Given the description of an element on the screen output the (x, y) to click on. 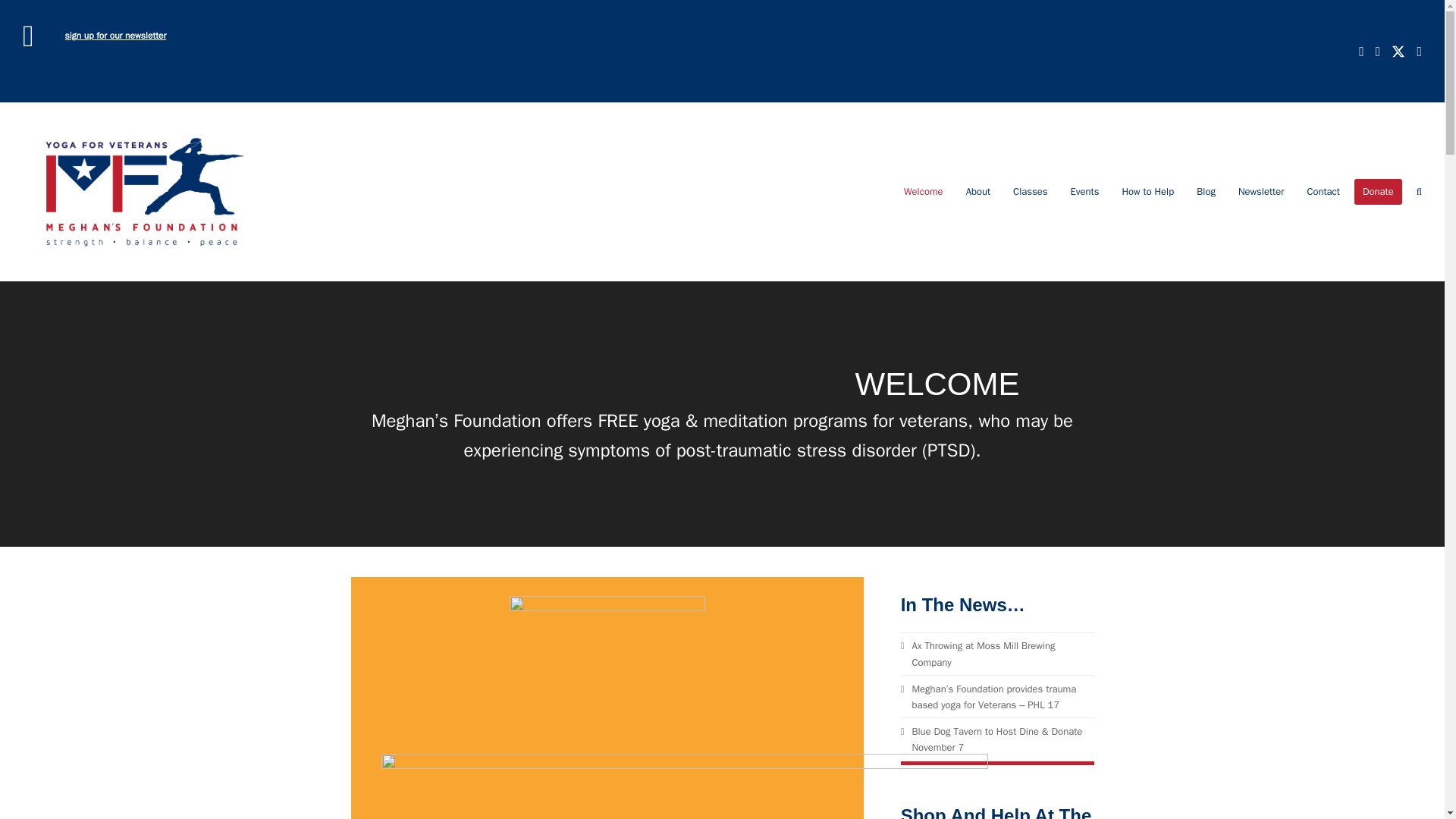
How to Help (1147, 191)
Newsletter (1261, 191)
About (978, 191)
Contact (1323, 191)
Events (1084, 191)
Donate (1378, 191)
Classes (1029, 191)
sign up for our newsletter (116, 35)
Blog (1206, 191)
Welcome (923, 191)
